Given the description of an element on the screen output the (x, y) to click on. 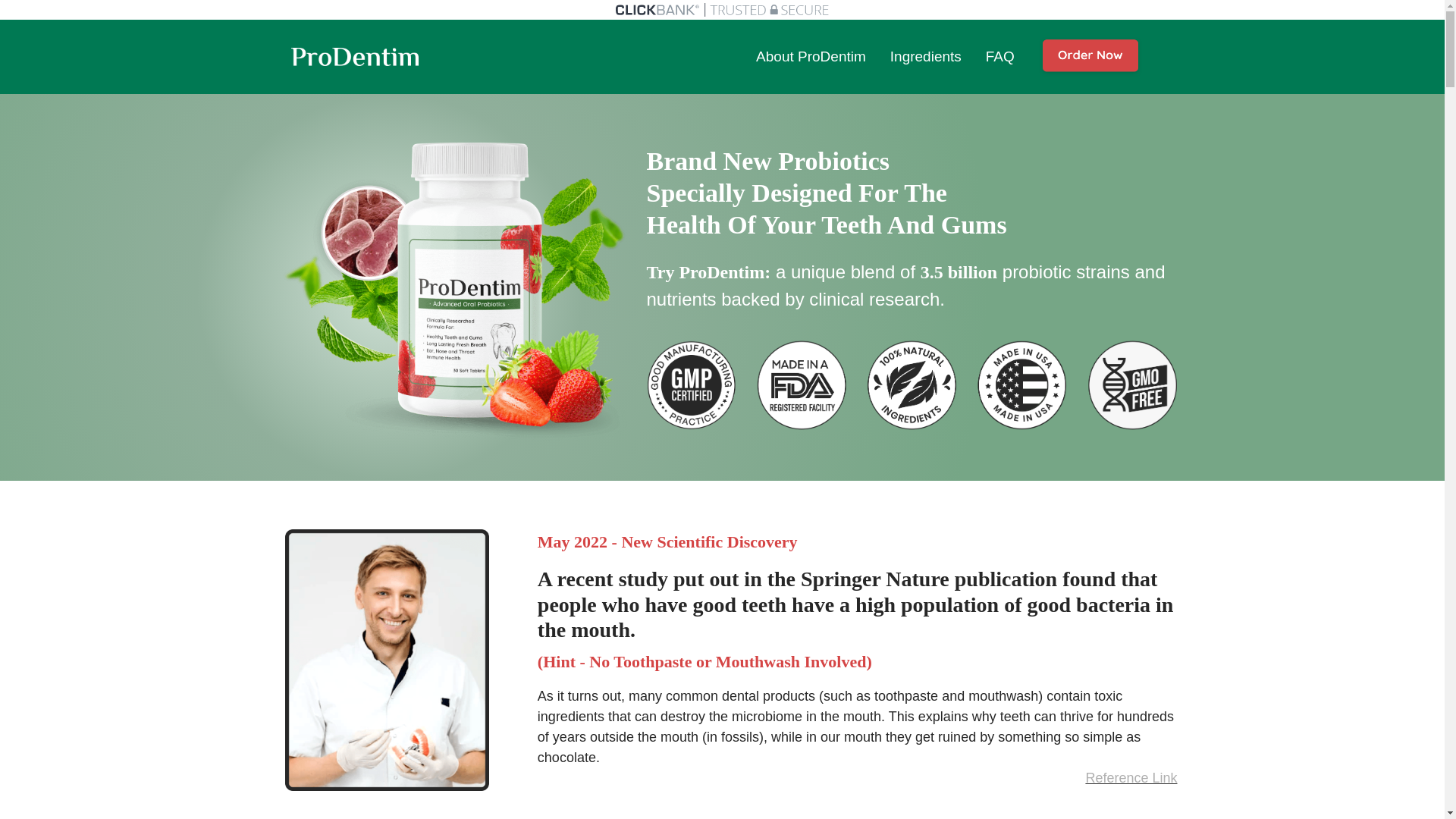
About ProDentim (810, 56)
Reference Link (1130, 777)
Ingredients (924, 56)
FAQ (999, 56)
